Given the description of an element on the screen output the (x, y) to click on. 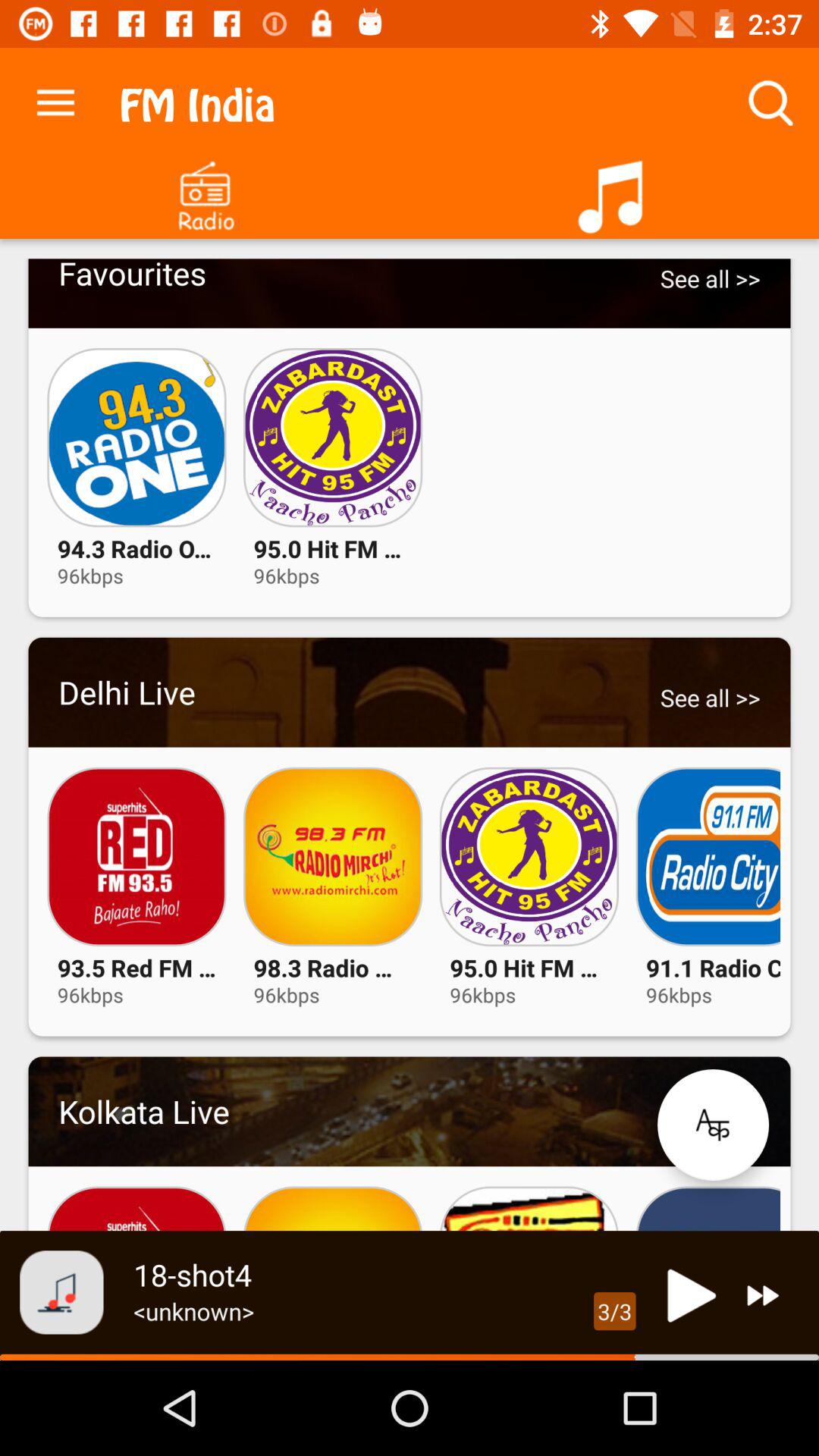
play button (687, 1295)
